Given the description of an element on the screen output the (x, y) to click on. 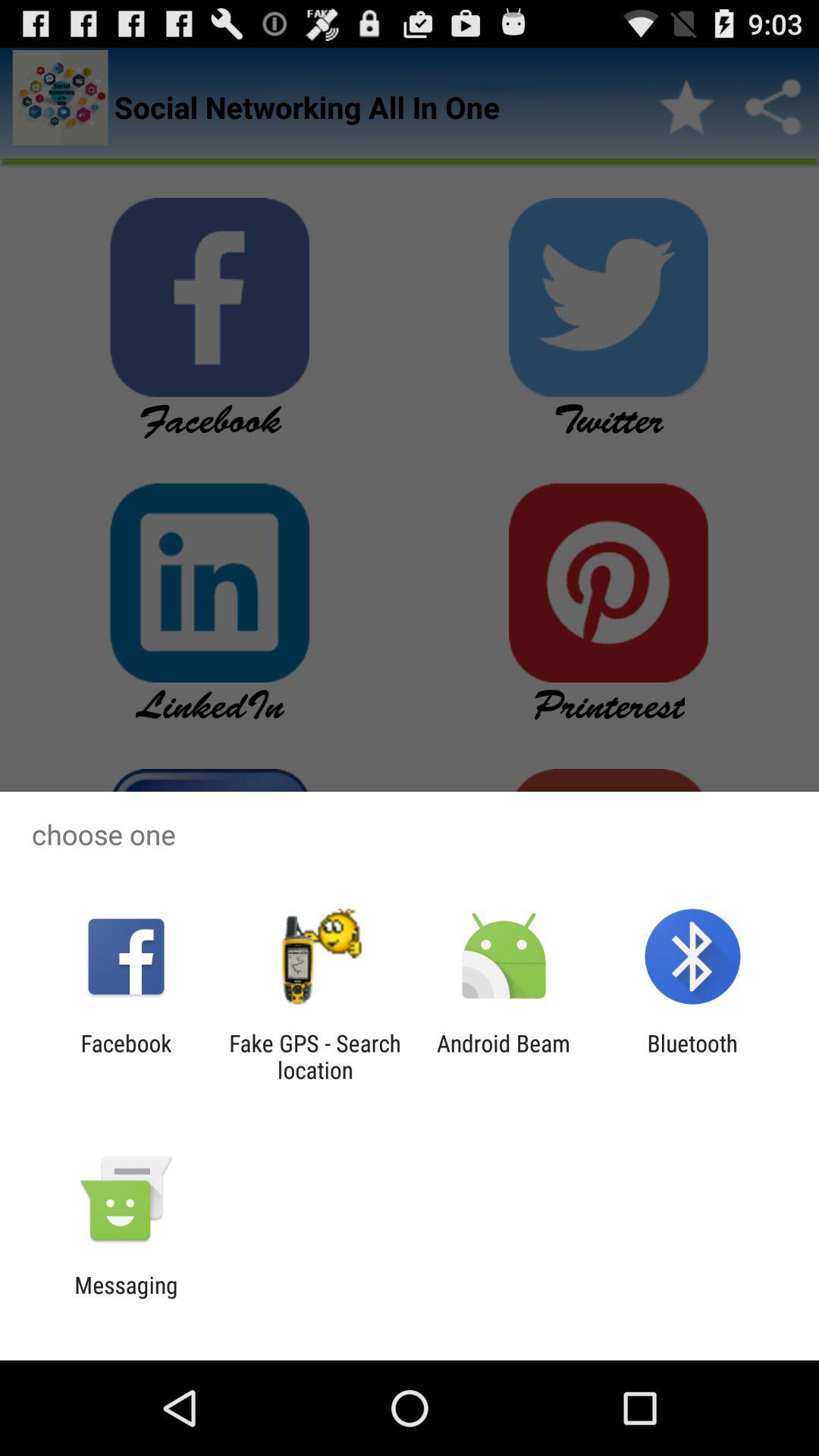
press the icon to the right of fake gps search app (503, 1056)
